Given the description of an element on the screen output the (x, y) to click on. 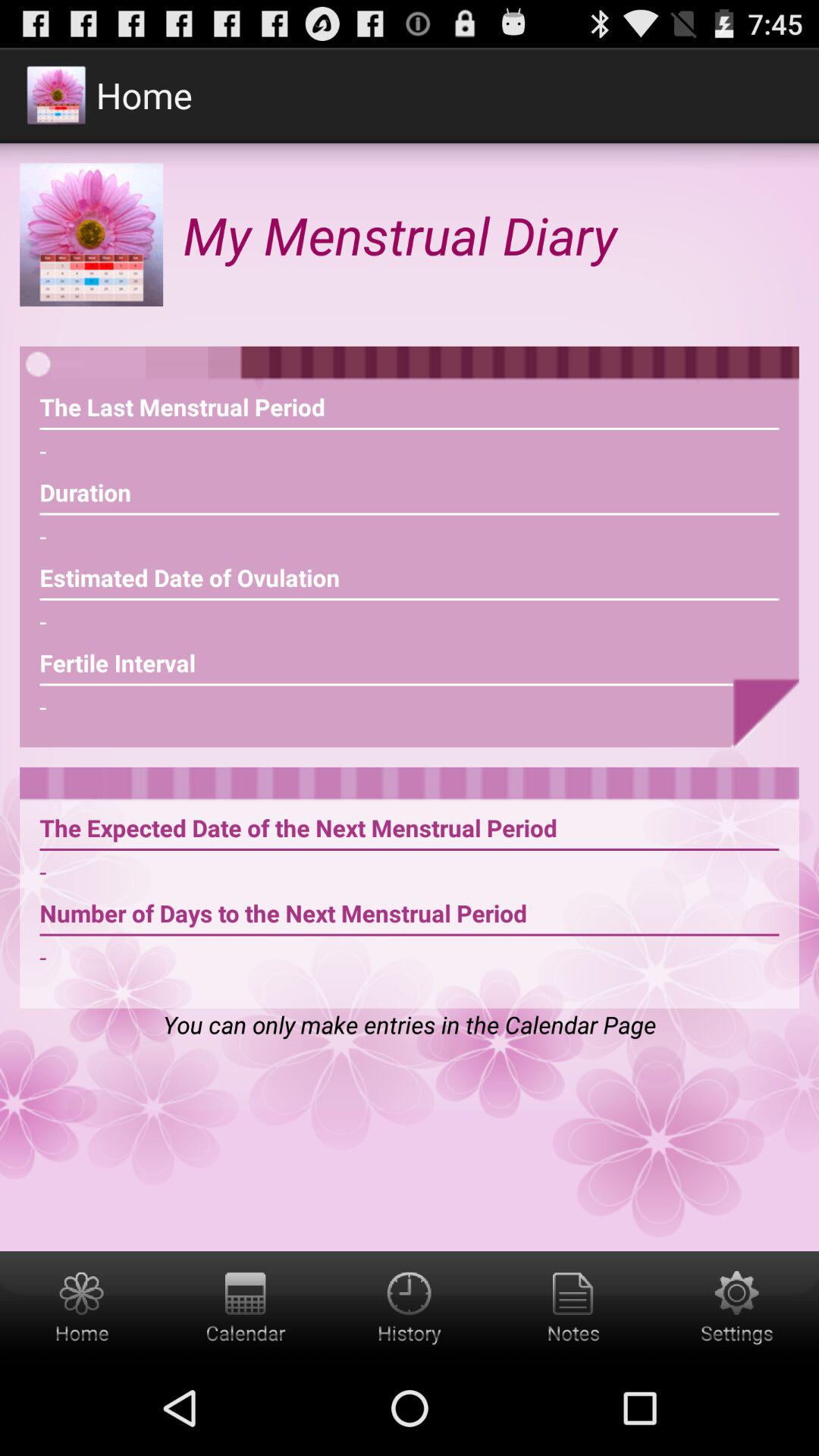
show history (409, 1305)
